Given the description of an element on the screen output the (x, y) to click on. 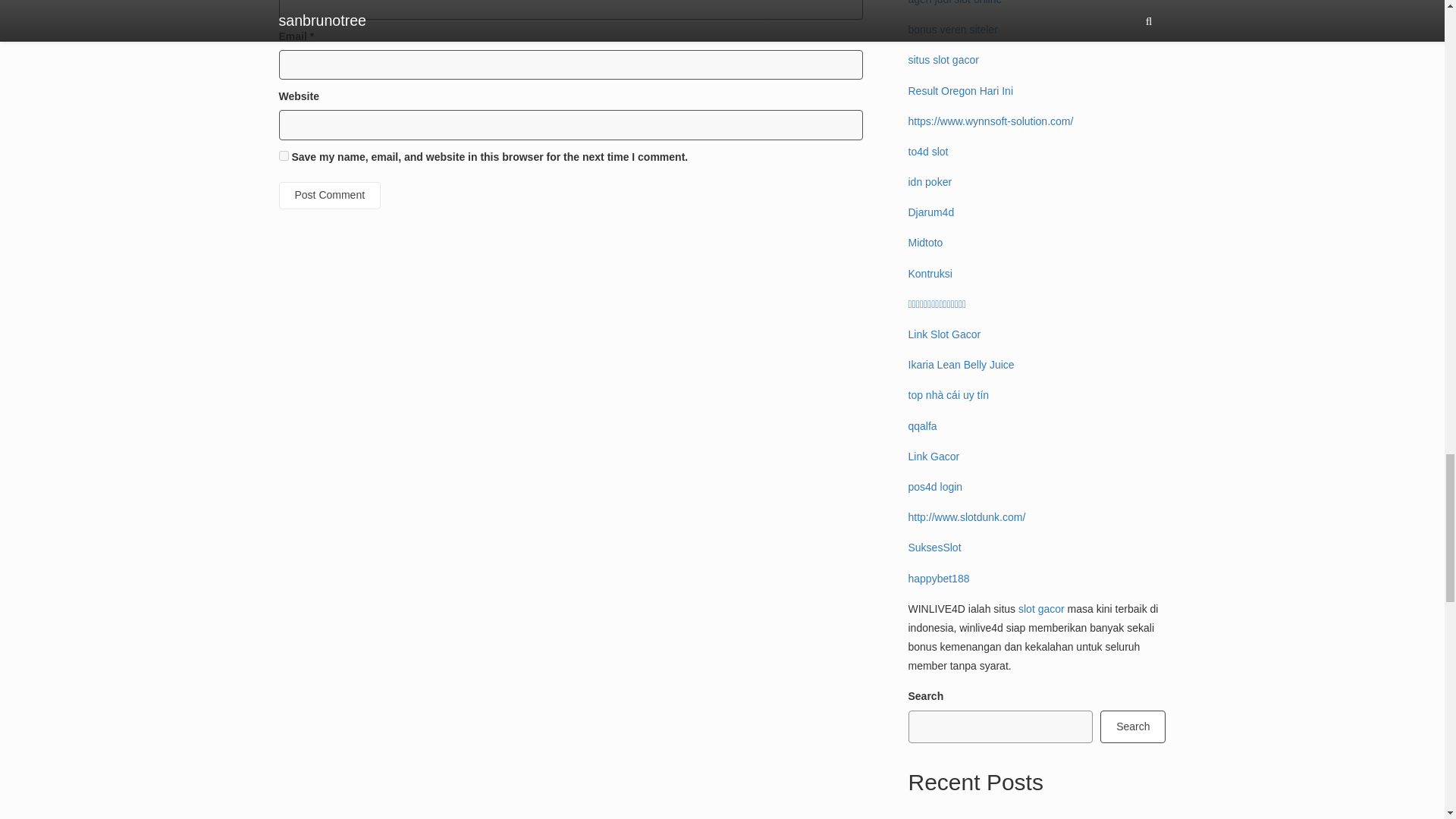
yes (283, 154)
Post Comment (330, 195)
Post Comment (330, 195)
